Given the description of an element on the screen output the (x, y) to click on. 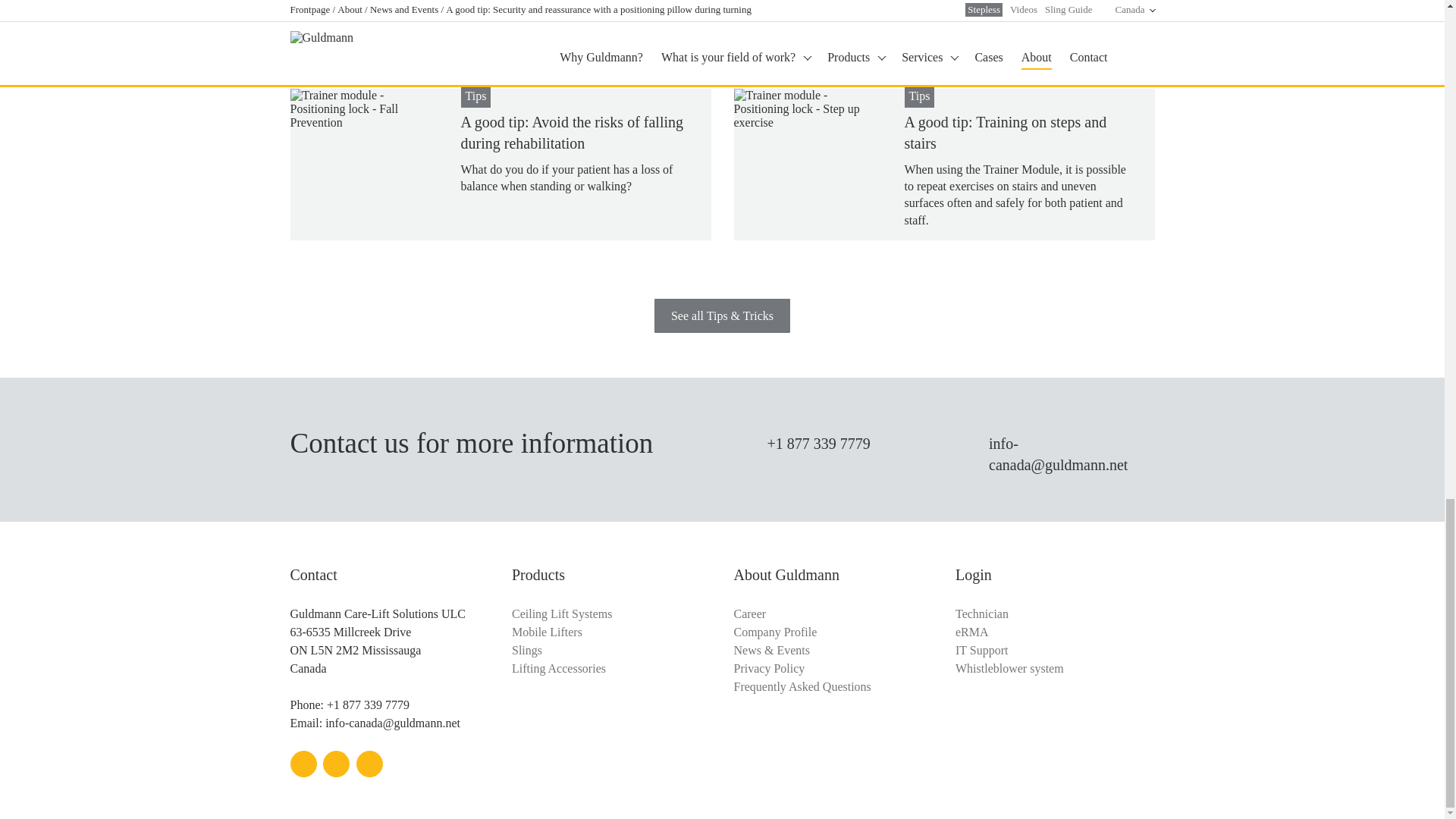
Social (369, 764)
Social (302, 764)
Social (336, 764)
